Given the description of an element on the screen output the (x, y) to click on. 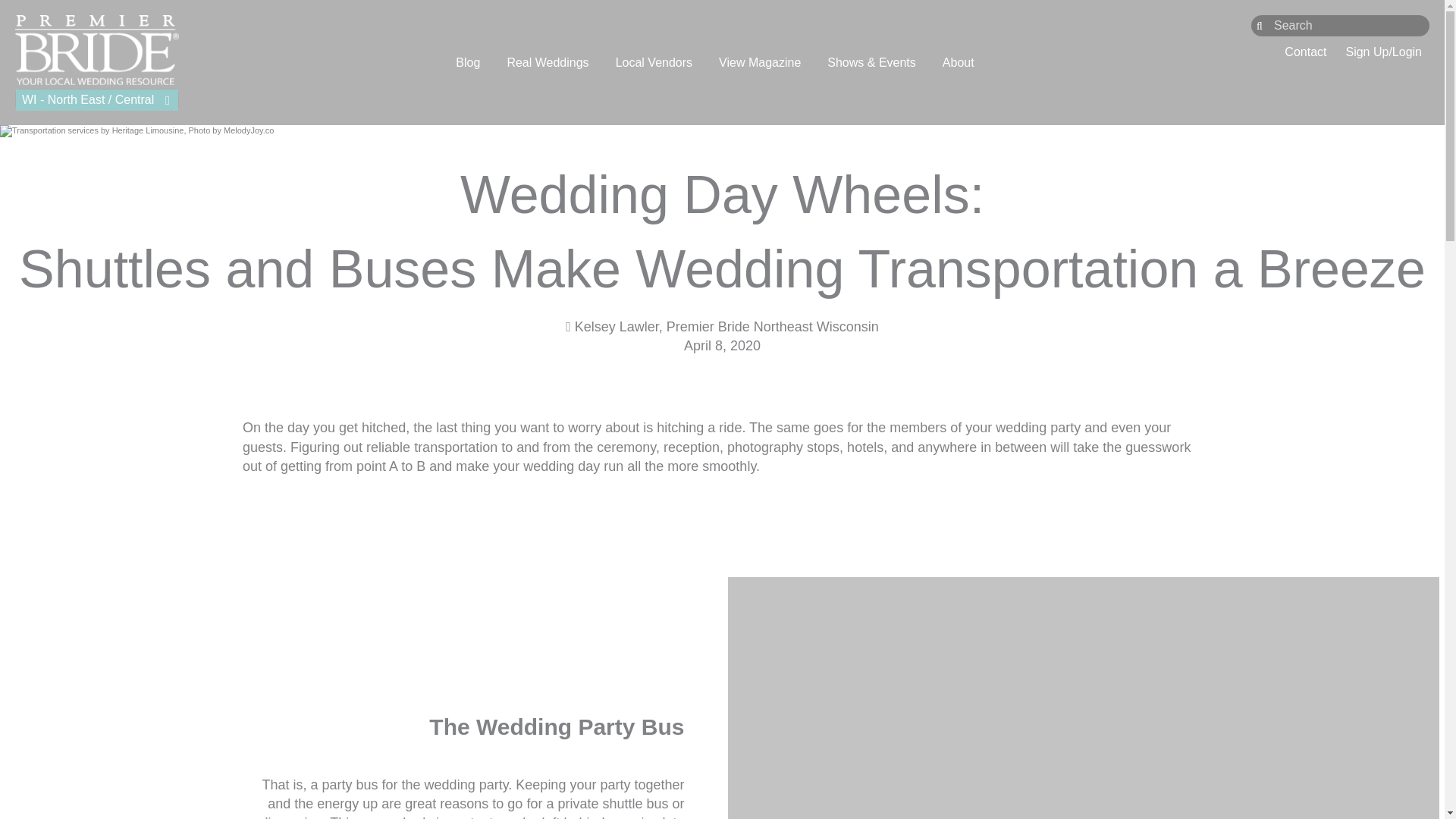
Blog (468, 62)
Local Vendors (653, 62)
Real Weddings (547, 62)
